Given the description of an element on the screen output the (x, y) to click on. 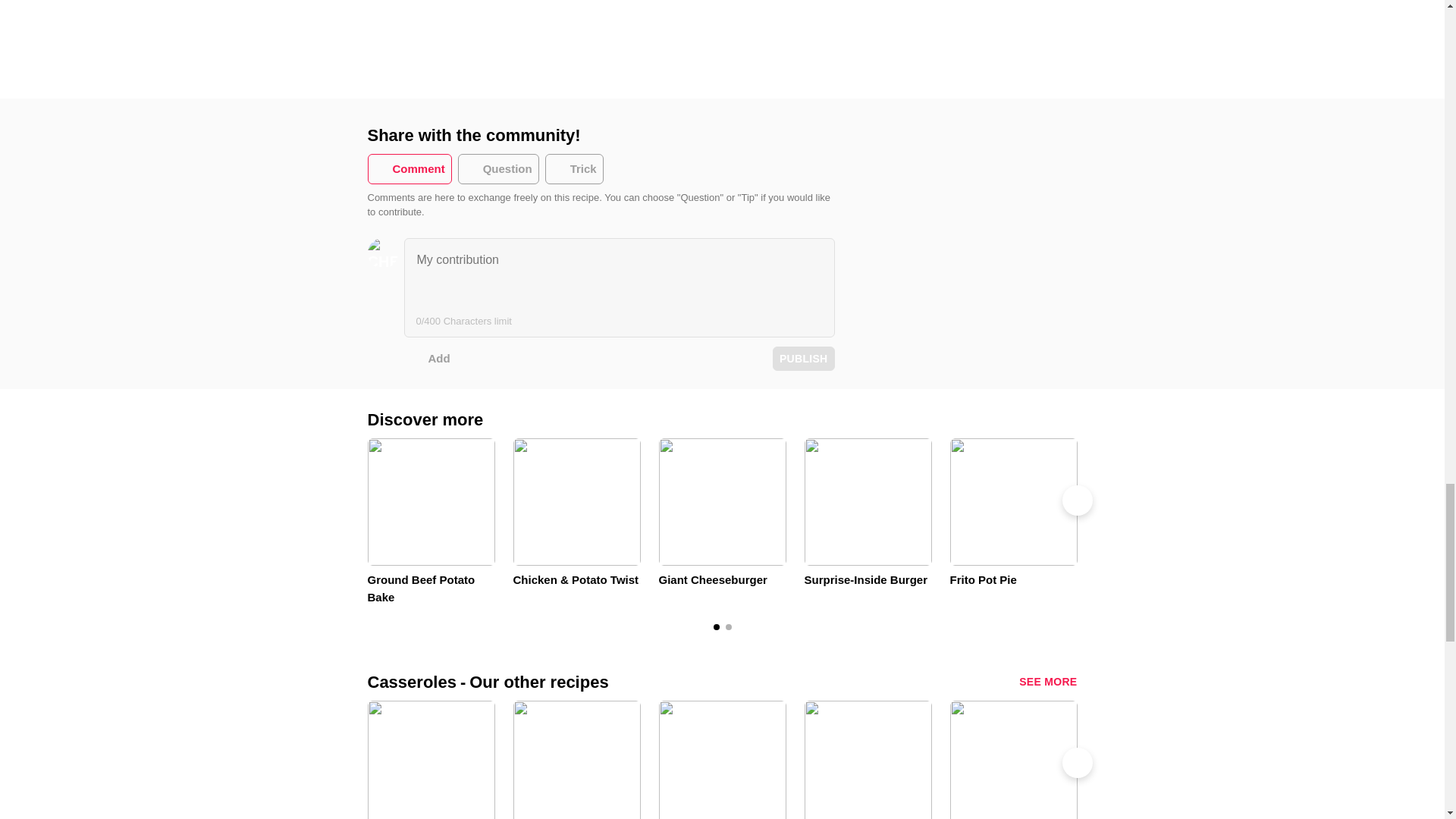
Blooming Potato Casserole (722, 760)
1 (727, 626)
Bacon bread bowl (576, 760)
Garlic bread Shepherd's pie (1013, 760)
Pizza Meatloaf (1158, 760)
SEE MORE (1048, 682)
Trick (574, 168)
Question (498, 168)
Artsy Cottage Pie (430, 760)
Add (426, 358)
